Given the description of an element on the screen output the (x, y) to click on. 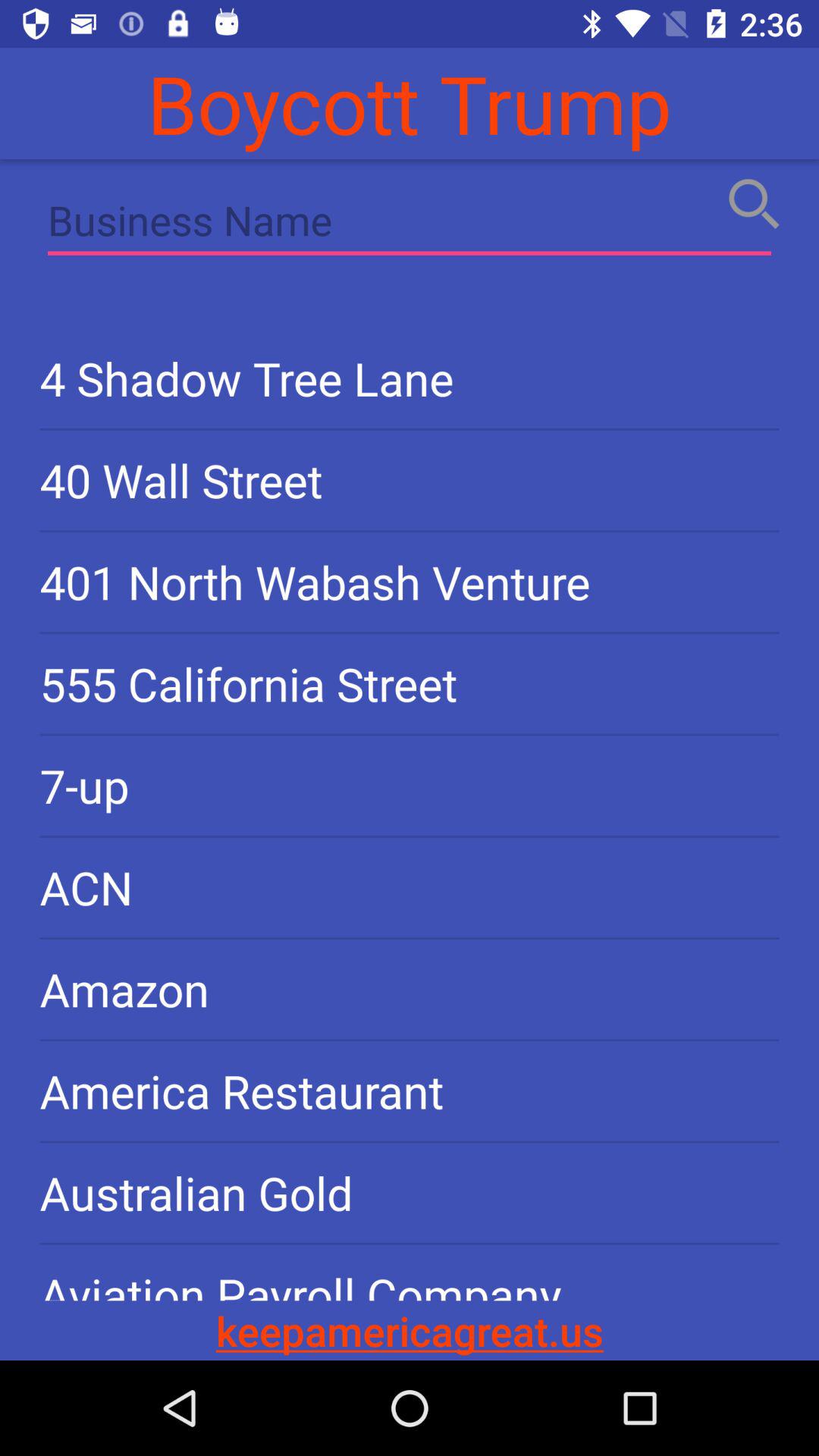
swipe to 40 wall street (409, 480)
